Given the description of an element on the screen output the (x, y) to click on. 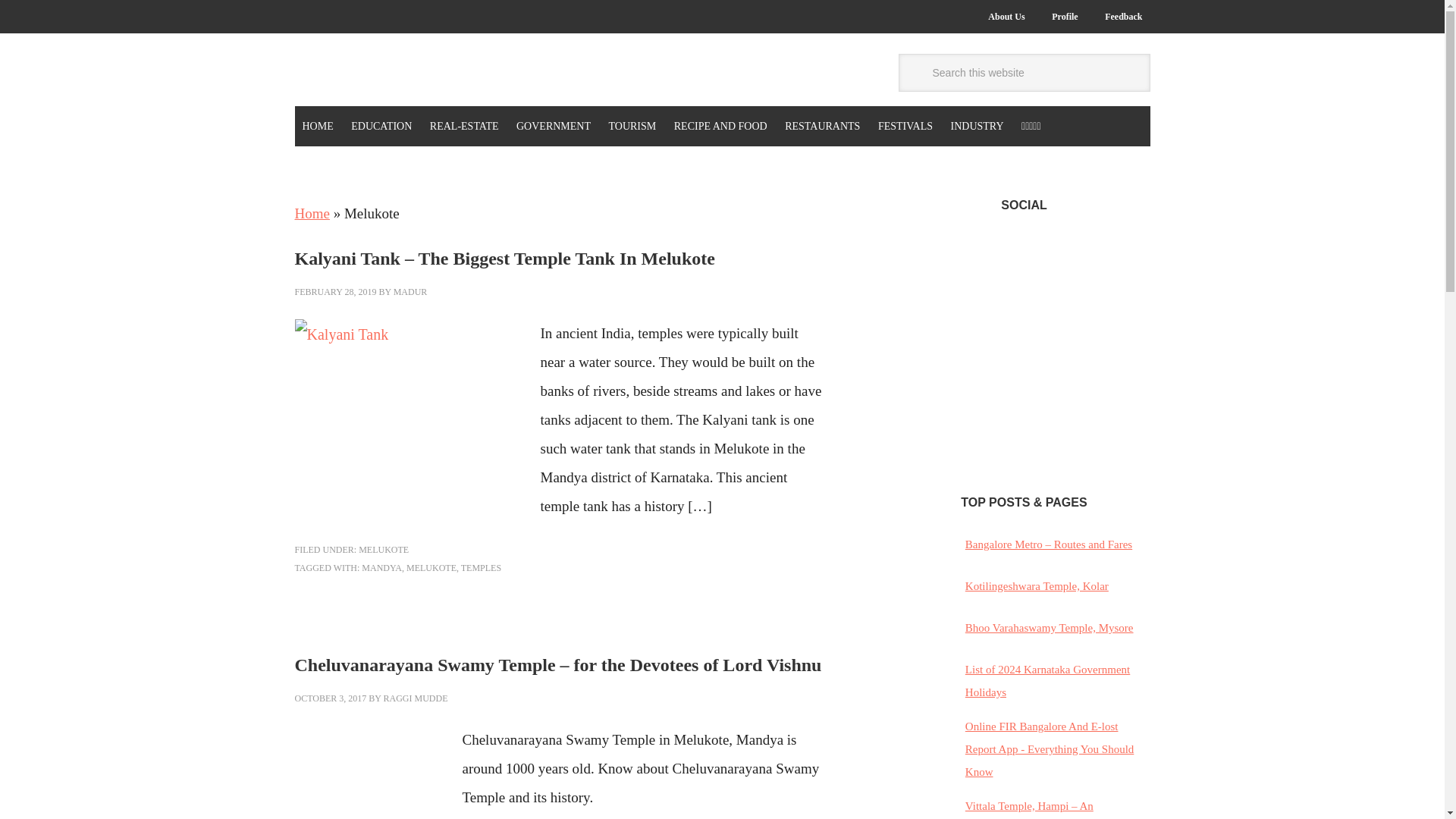
TEMPLES (480, 567)
Bhoo Varahaswamy Temple, Mysore (1049, 627)
Home (311, 213)
HOME (317, 126)
GOVERNMENT (553, 126)
REAL-ESTATE (464, 126)
About Us (1005, 16)
TOURISM (631, 126)
RESTAURANTS (822, 126)
